Given the description of an element on the screen output the (x, y) to click on. 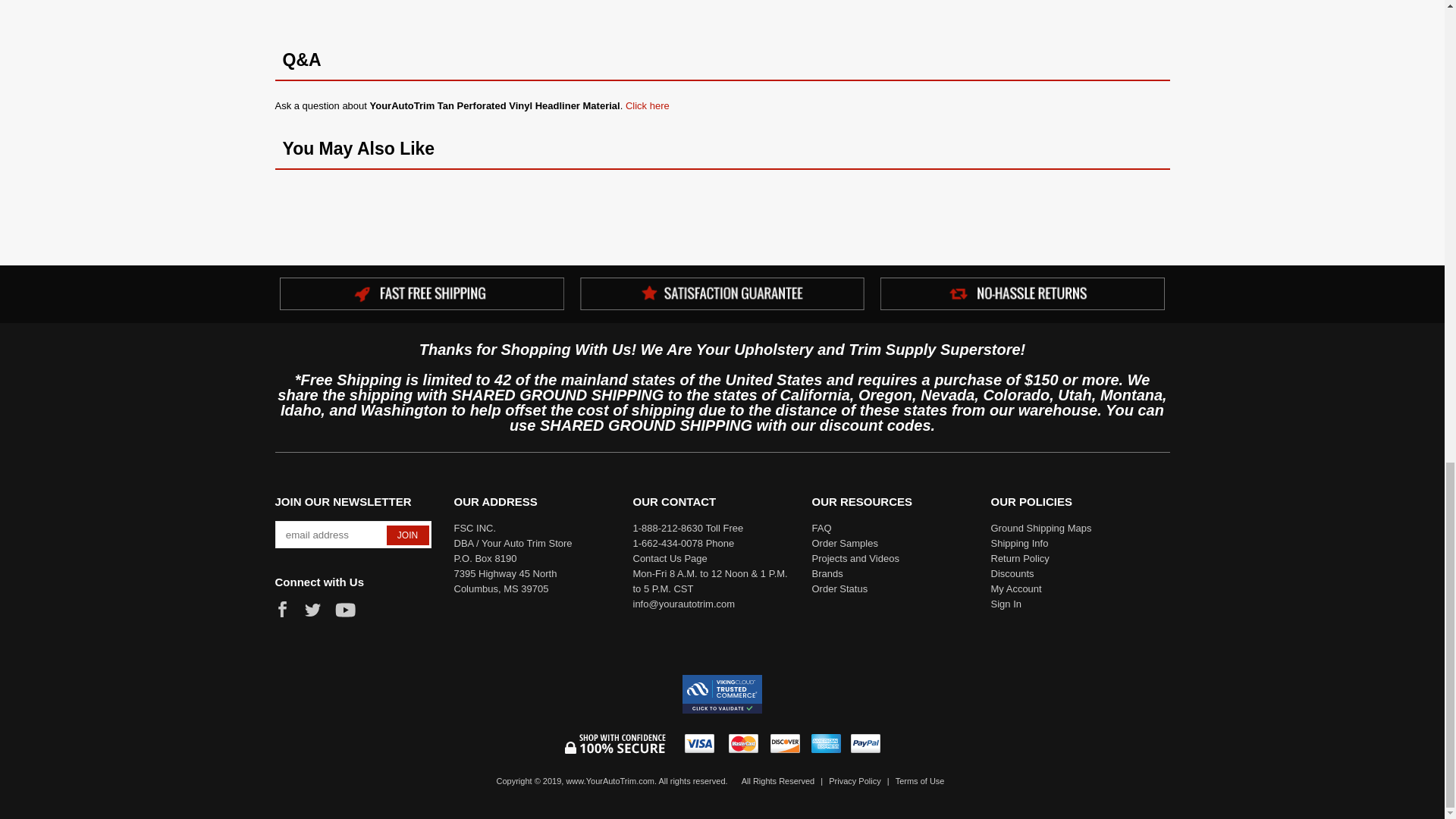
Join (407, 535)
